Given the description of an element on the screen output the (x, y) to click on. 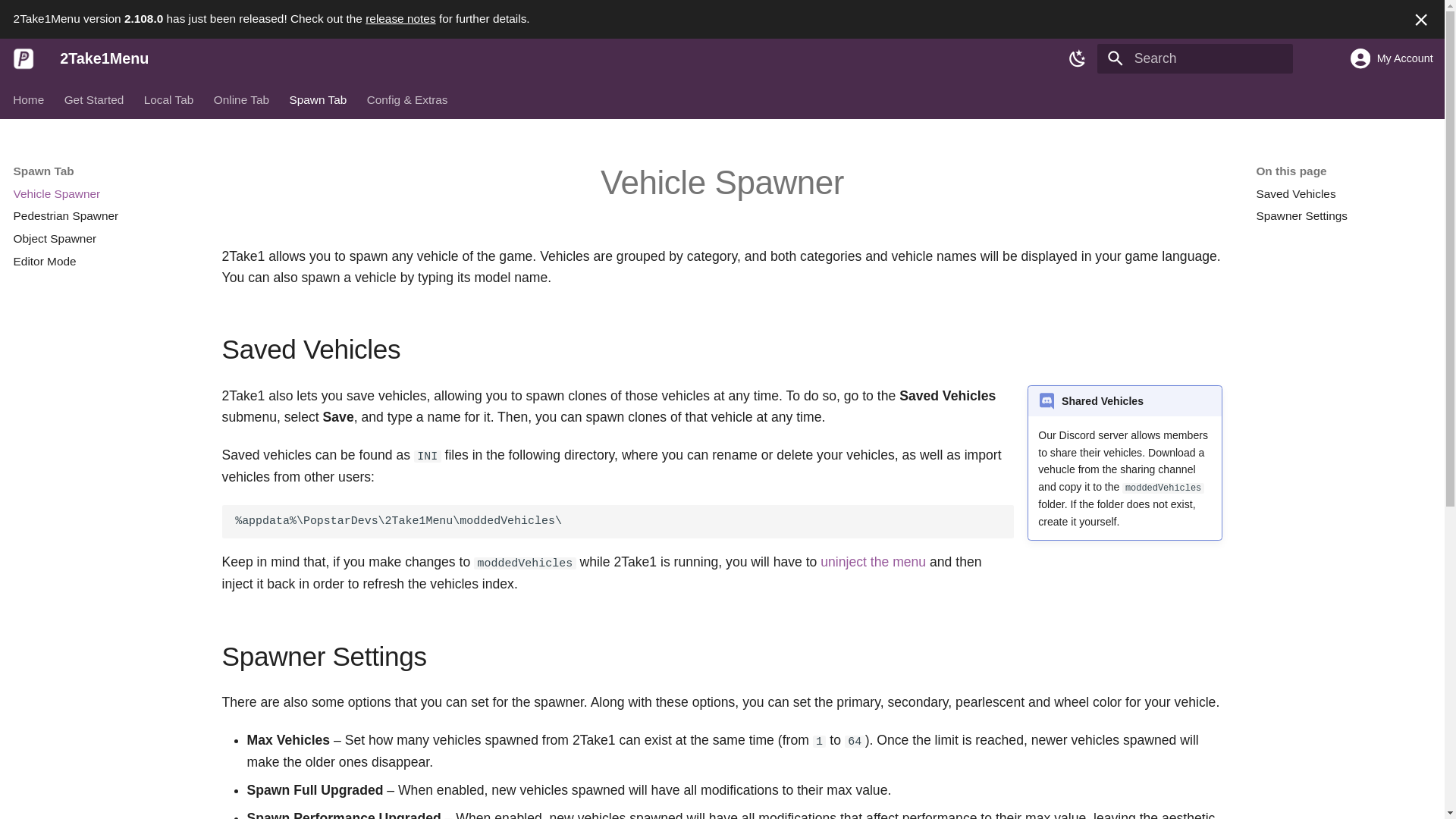
Online Tab (241, 99)
Get Started (93, 99)
Home (29, 99)
Switch to dark mode (1077, 58)
Spawn Tab (318, 99)
My Account (1374, 58)
2Take1Menu (23, 58)
Local Tab (168, 99)
